Given the description of an element on the screen output the (x, y) to click on. 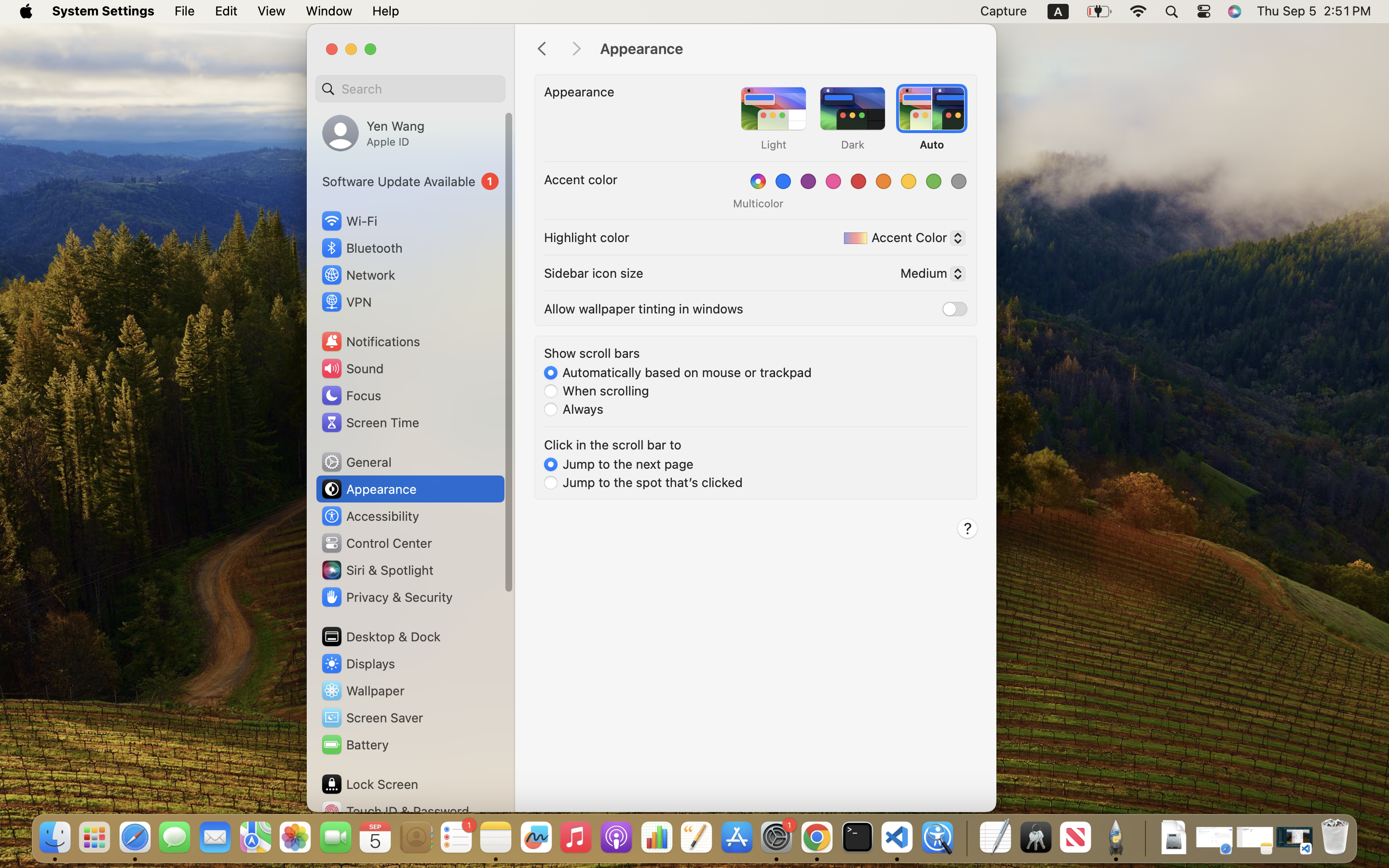
Accent Color Element type: AXPopUpButton (900, 239)
Show scroll bars Element type: AXStaticText (591, 352)
Privacy & Security Element type: AXStaticText (386, 596)
VPN Element type: AXStaticText (345, 301)
Appearance Element type: AXStaticText (788, 49)
